Given the description of an element on the screen output the (x, y) to click on. 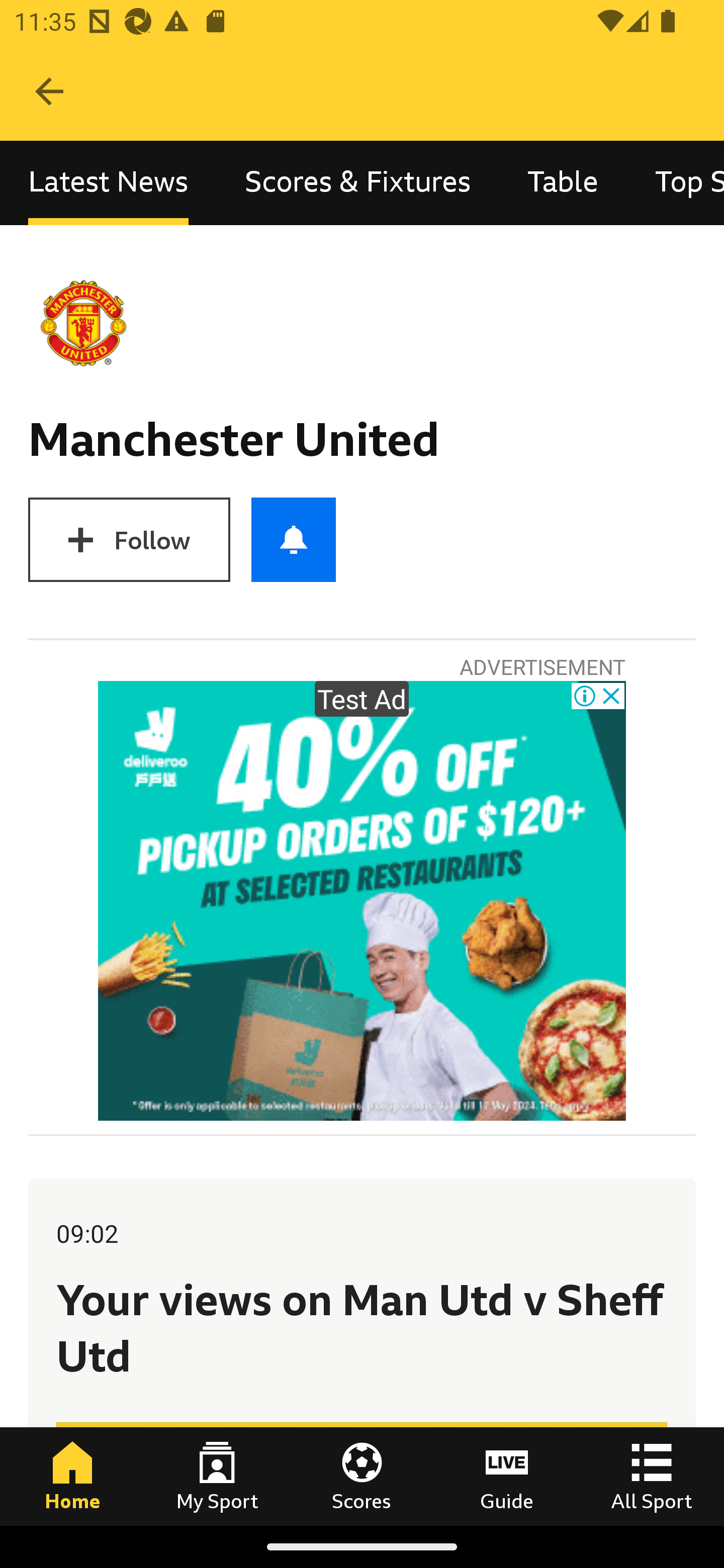
Navigate up (49, 91)
Latest News, selected Latest News (108, 183)
Scores & Fixtures (357, 183)
Table (562, 183)
Follow Manchester United Follow (129, 539)
Push notifications for Manchester United (293, 539)
Advertisement (361, 900)
My Sport (216, 1475)
Scores (361, 1475)
Guide (506, 1475)
All Sport (651, 1475)
